Given the description of an element on the screen output the (x, y) to click on. 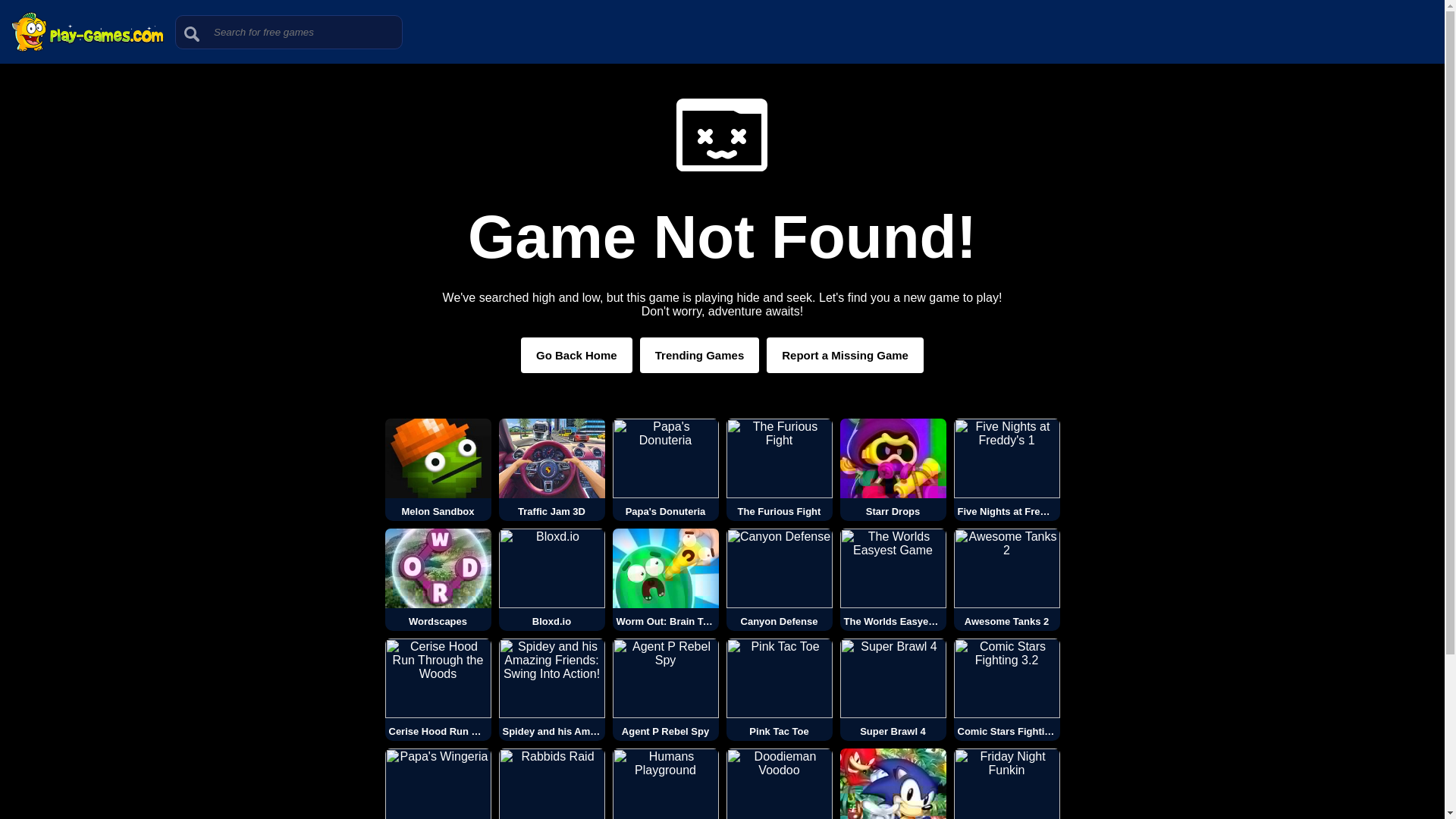
Starr Drops (893, 469)
Humans Playground (665, 783)
The Furious Fight (779, 469)
Five Nights at Freddy's 1 (1006, 469)
Worm Out: Brain Teaser Games (665, 579)
Super Brawl 4 (893, 689)
Melon Sandbox (438, 469)
Go Back Home (576, 355)
Sonic 3 and Knuckles (893, 783)
Traffic Jam 3D (552, 469)
